Given the description of an element on the screen output the (x, y) to click on. 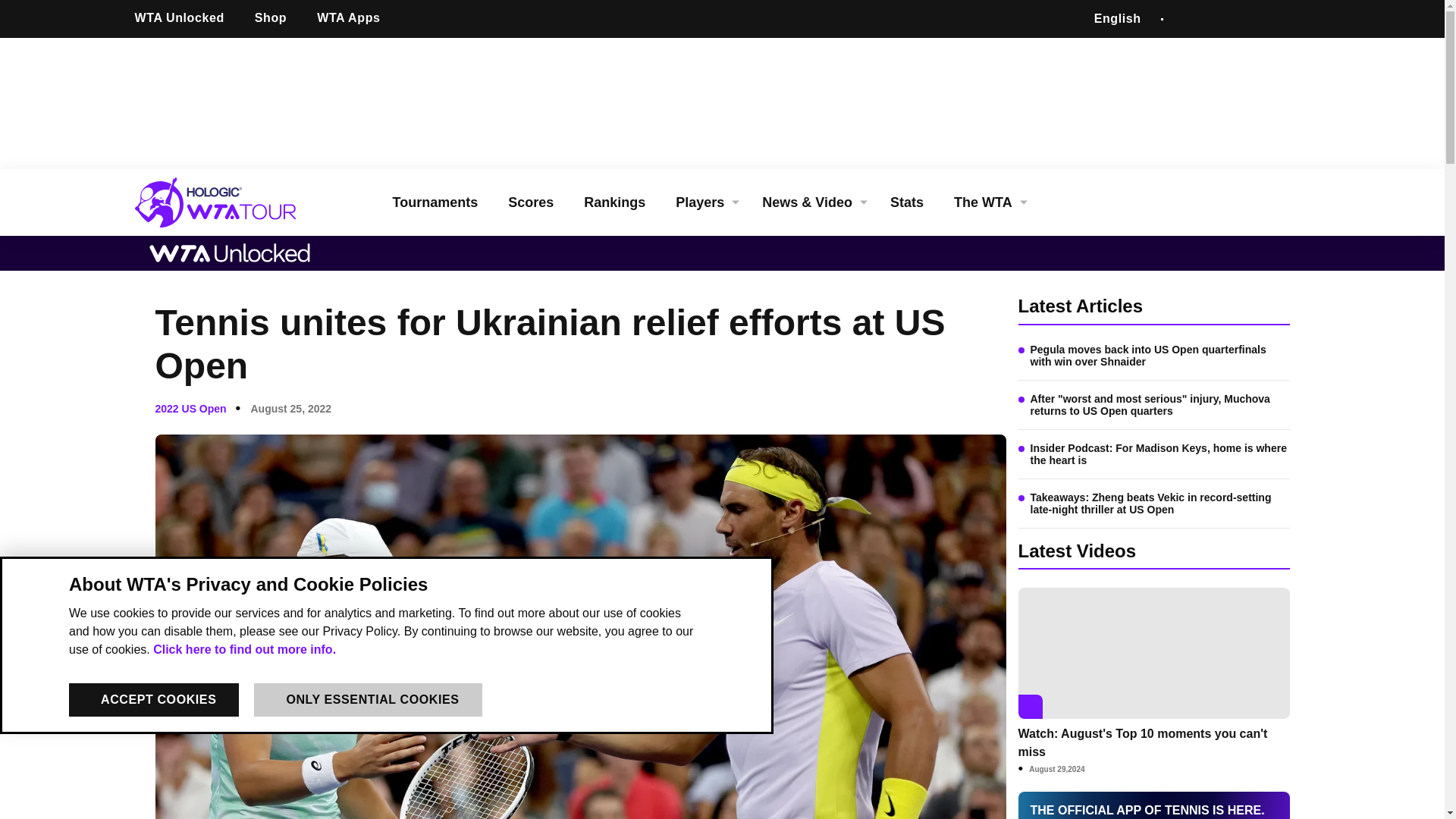
Rankings (615, 201)
WTA Unlocked (185, 18)
Scores (531, 201)
Twitter (1223, 19)
Stats (907, 201)
Scores (531, 201)
Players (703, 201)
Tournaments (435, 201)
Click here to find out more info. (244, 649)
Go back to the home page (224, 201)
